Given the description of an element on the screen output the (x, y) to click on. 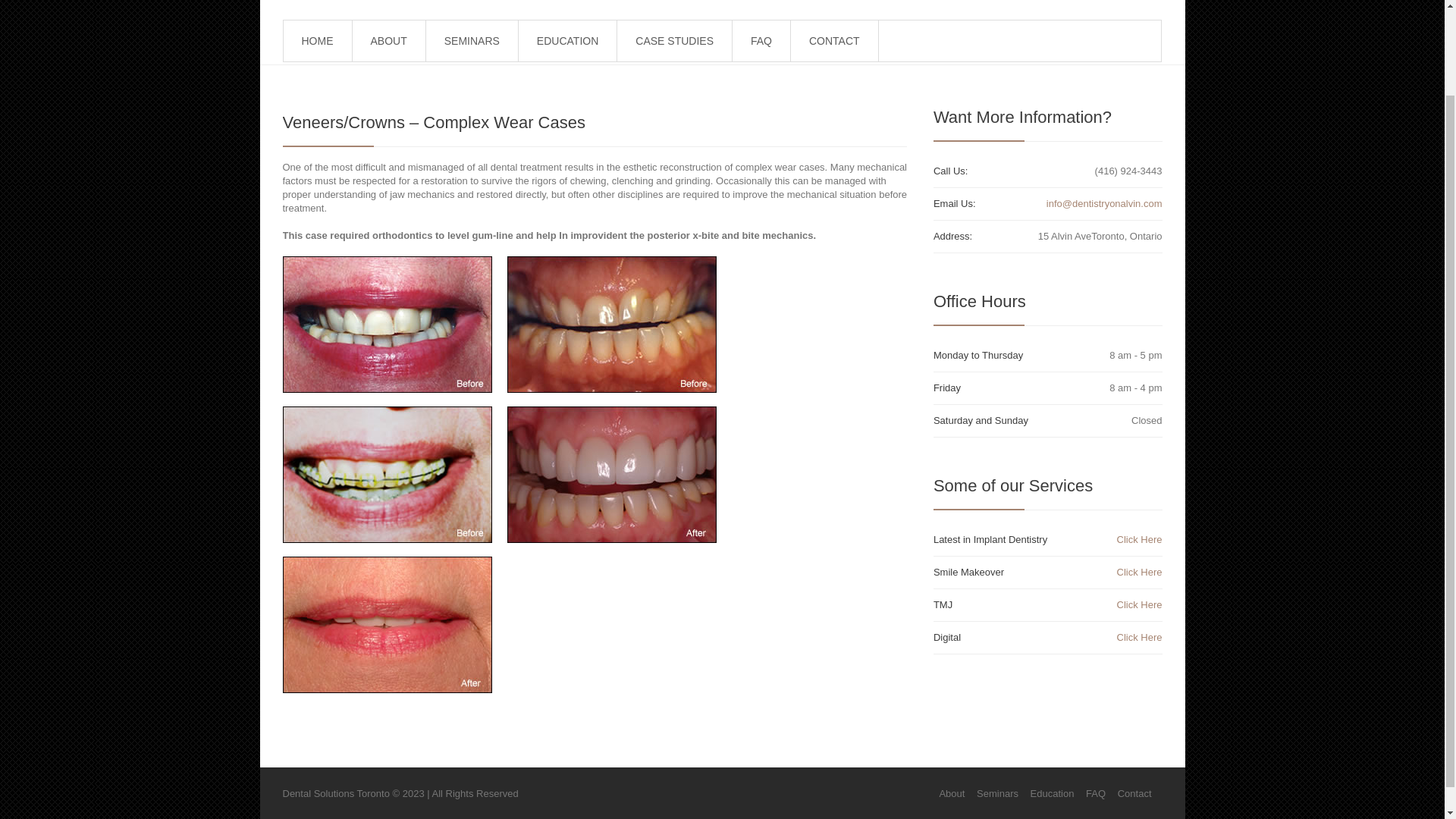
About (951, 793)
CONTACT (834, 40)
Contact (1134, 793)
ABOUT (389, 40)
Click Here (1138, 604)
Click Here (1138, 539)
CASE STUDIES (673, 40)
FAQ (1095, 793)
HOME (317, 40)
Education (1052, 793)
SEMINARS (471, 40)
FAQ (761, 40)
Seminars (996, 793)
Click Here (1138, 636)
EDUCATION (567, 40)
